Given the description of an element on the screen output the (x, y) to click on. 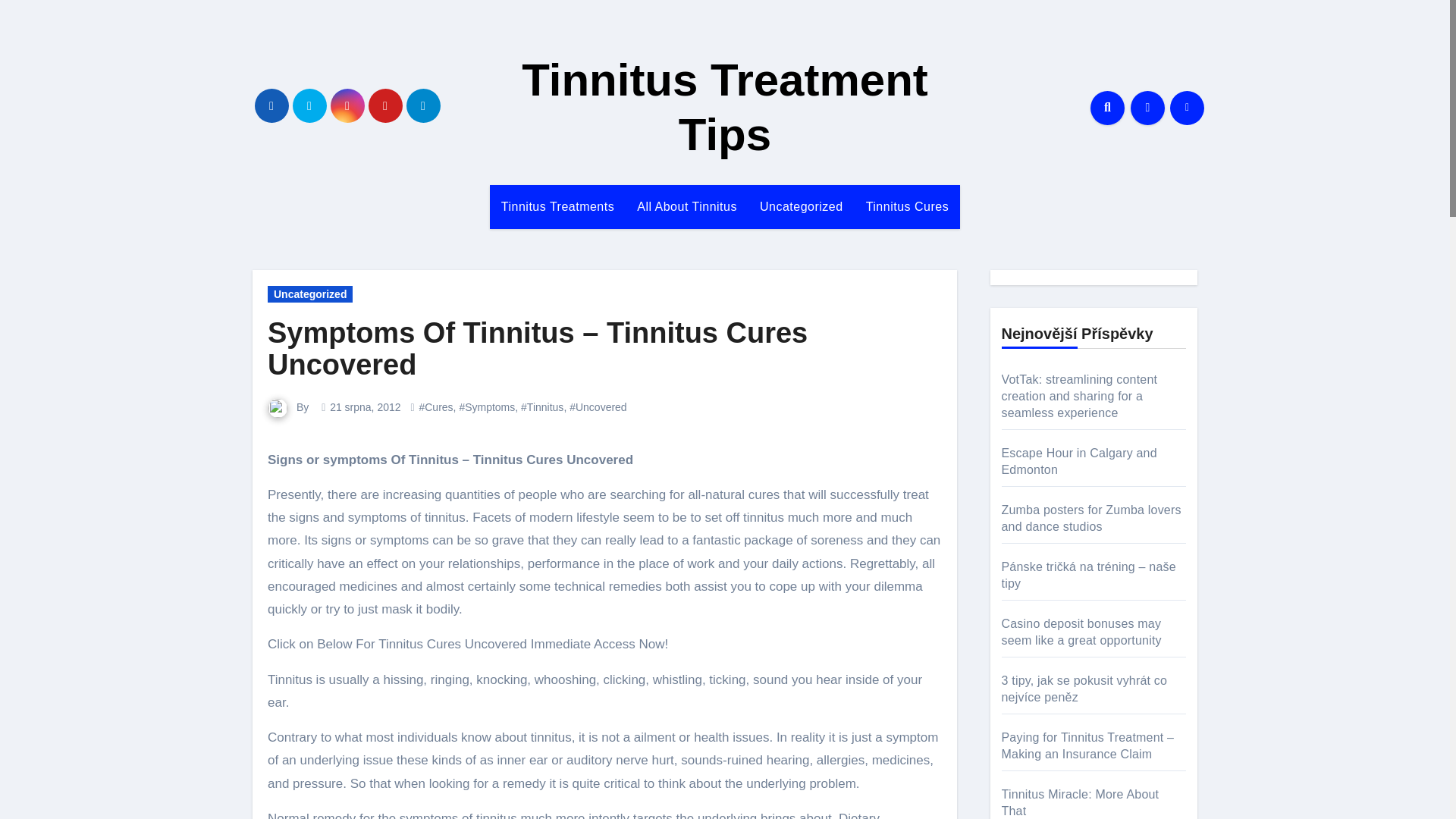
Tinnitus Cures (907, 207)
Uncategorized (309, 293)
Tinnitus Treatment Tips (724, 106)
Tinnitus Treatments (557, 207)
All About Tinnitus (687, 207)
Uncategorized (801, 207)
21 srpna, 2012 (365, 407)
Tinnitus Treatments (557, 207)
Uncategorized (801, 207)
Tinnitus Cures (907, 207)
All About Tinnitus (687, 207)
